Given the description of an element on the screen output the (x, y) to click on. 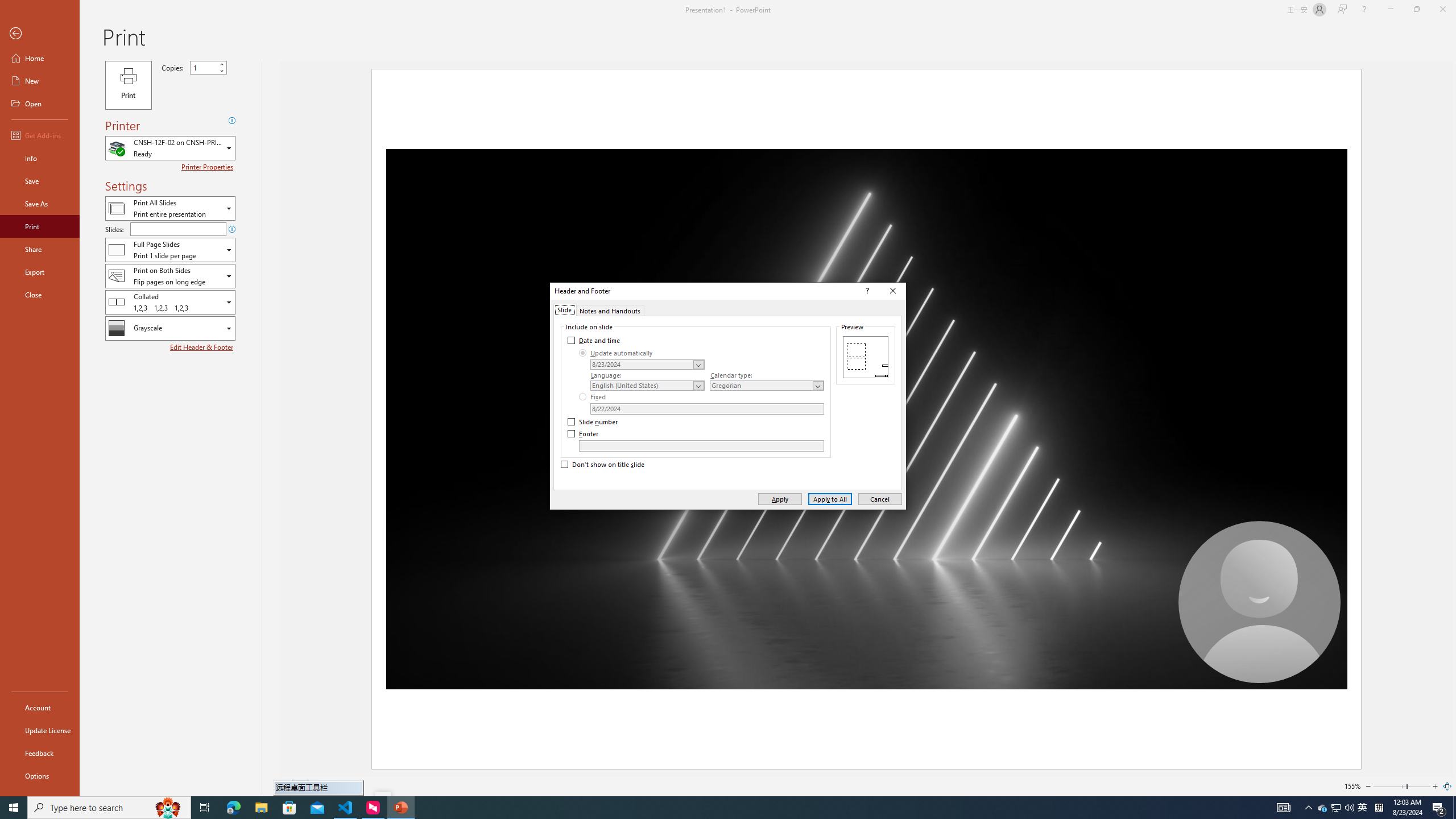
Microsoft Edge (233, 807)
Fixed (593, 396)
Copies (208, 67)
Less (220, 70)
Printer Properties (208, 166)
Date and time (594, 340)
155% (1352, 785)
